Given the description of an element on the screen output the (x, y) to click on. 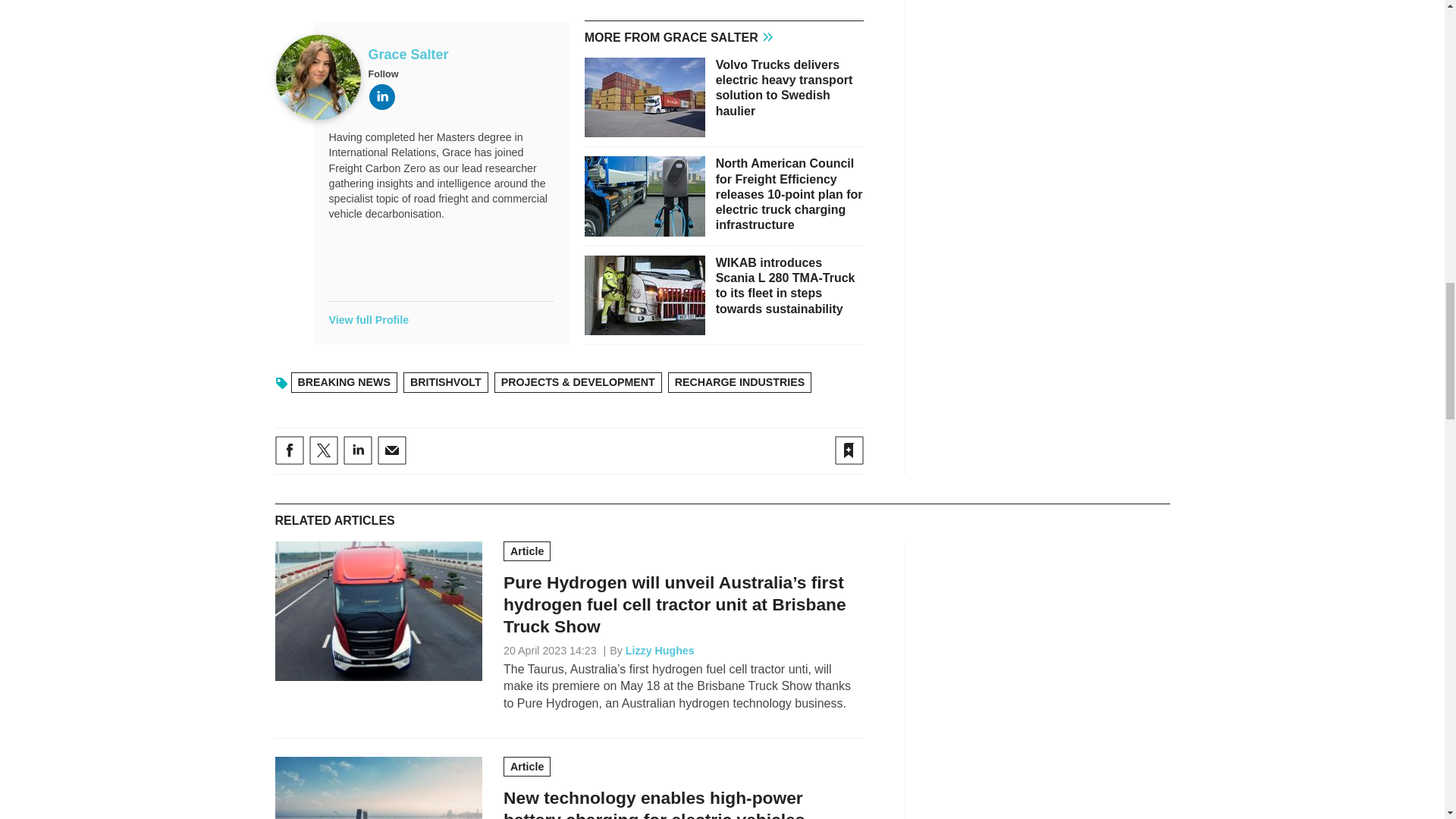
Email this article (391, 450)
Share this on Linked in (356, 450)
Share this on Twitter (322, 450)
Share this on Facebook (288, 450)
